Given the description of an element on the screen output the (x, y) to click on. 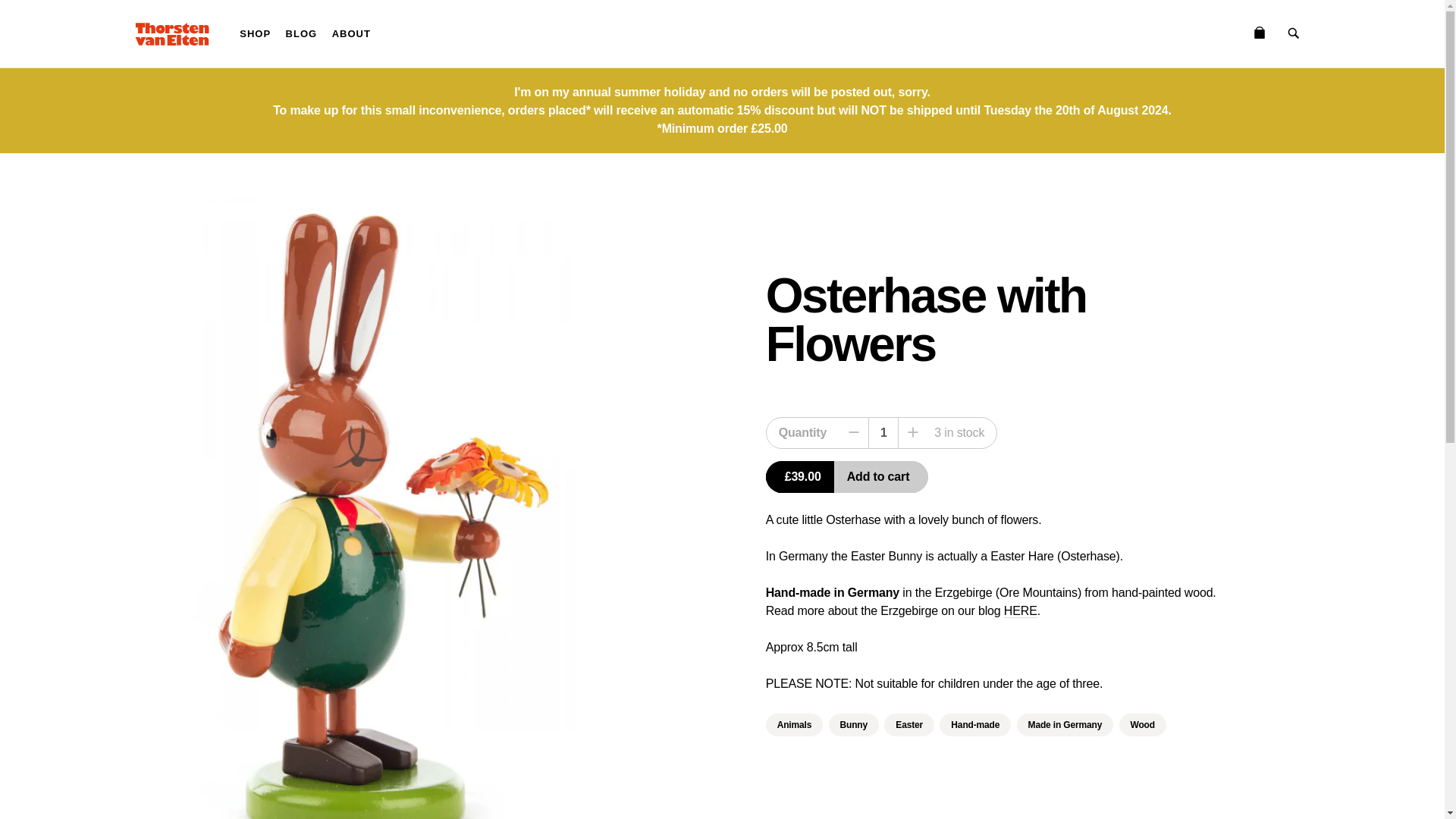
HERE (1020, 611)
Animals (794, 724)
Easter (908, 724)
SEARCH (1293, 33)
Bunny (853, 724)
ABOUT (351, 33)
BLOG (301, 33)
1 (882, 432)
Wood (1142, 724)
Made in Germany (1064, 724)
